Given the description of an element on the screen output the (x, y) to click on. 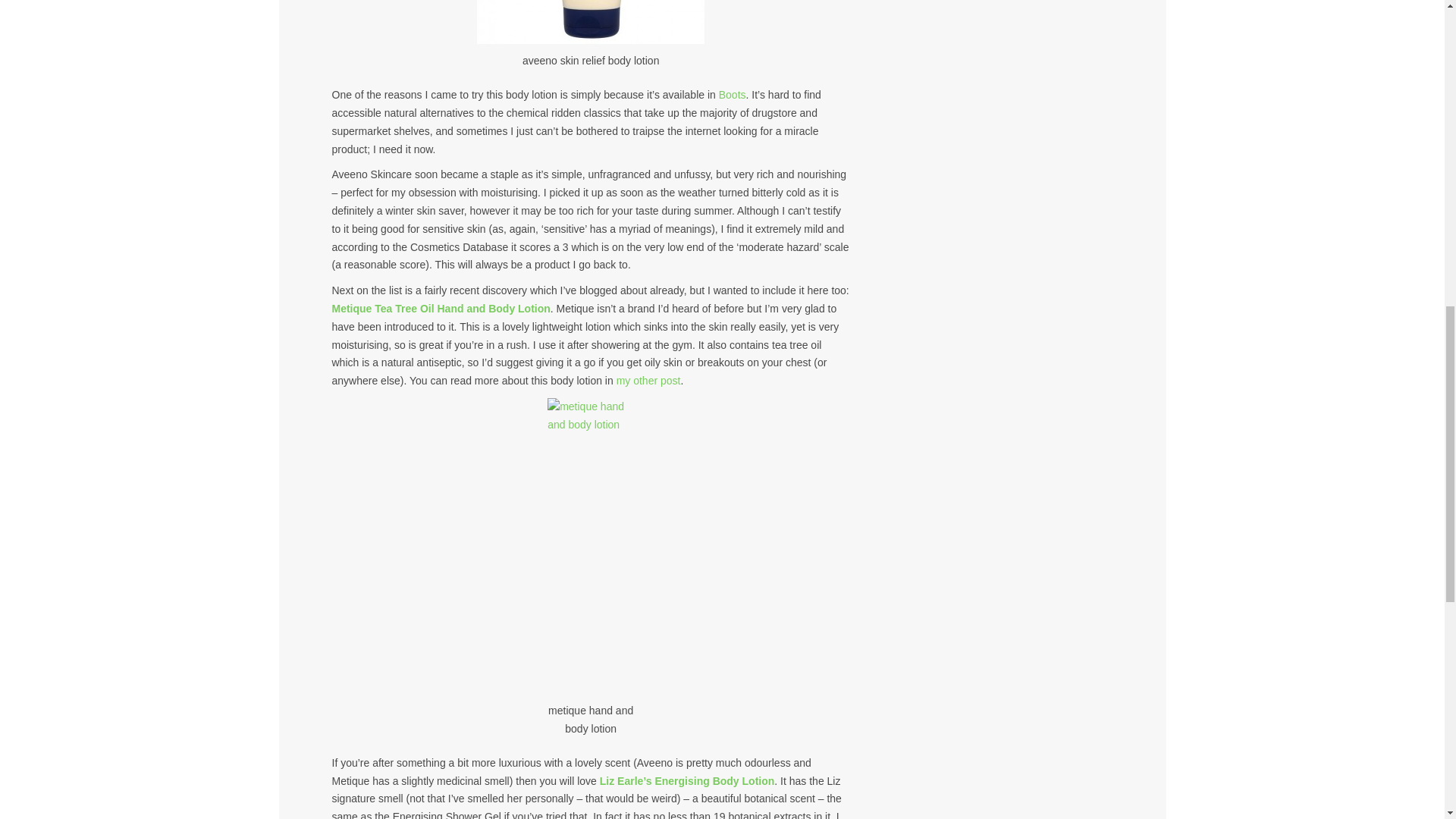
winter skin savers (648, 380)
Metique hand and body lotion (440, 308)
Aveeno Skin Relief Body Lotion (732, 94)
aveeno skin relief body lotion (590, 22)
Liz Earle Energising Body Lotion (686, 780)
Boots (732, 94)
